Given the description of an element on the screen output the (x, y) to click on. 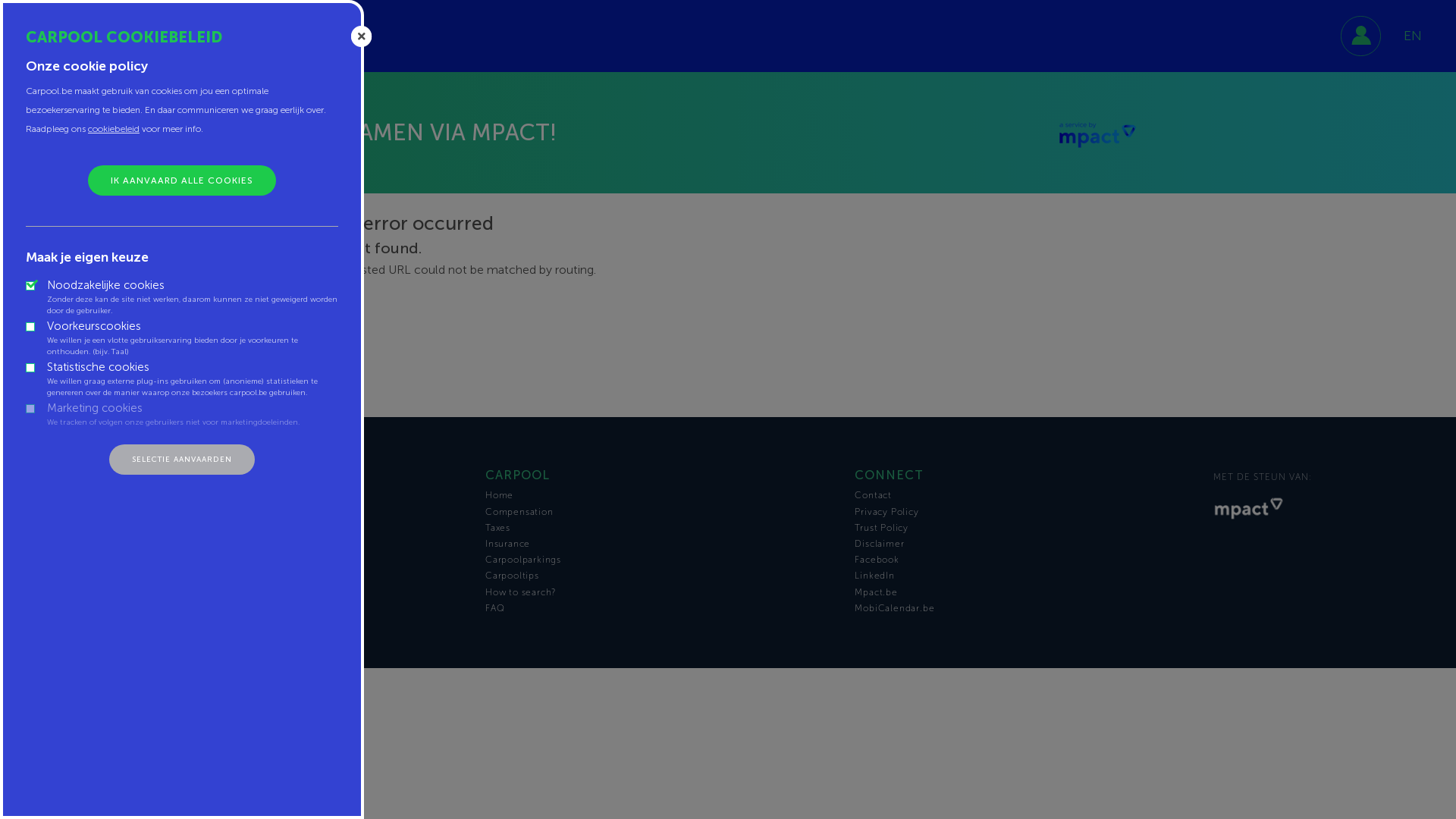
Carpooltips Element type: text (658, 575)
Taxes Element type: text (658, 527)
Disclaimer Element type: text (1027, 543)
How to search? Element type: text (658, 592)
Trust Policy Element type: text (1027, 527)
Insurance Element type: text (658, 543)
Contact Element type: text (1027, 495)
EN Element type: text (1412, 35)
FAQ Element type: text (658, 608)
SELECTIE AANVAARDEN Element type: text (181, 459)
MobiCalendar.be Element type: text (1027, 608)
LinkedIn Element type: text (1027, 575)
Compensation Element type: text (658, 511)
IK AANVAARD ALLE COOKIES Element type: text (181, 180)
Facebook Element type: text (1027, 559)
Home Element type: text (658, 495)
Mpact.be Element type: text (1027, 592)
Carpoolparkings Element type: text (658, 559)
Privacy Policy Element type: text (1027, 511)
cookiebeleid Element type: text (113, 128)
